Given the description of an element on the screen output the (x, y) to click on. 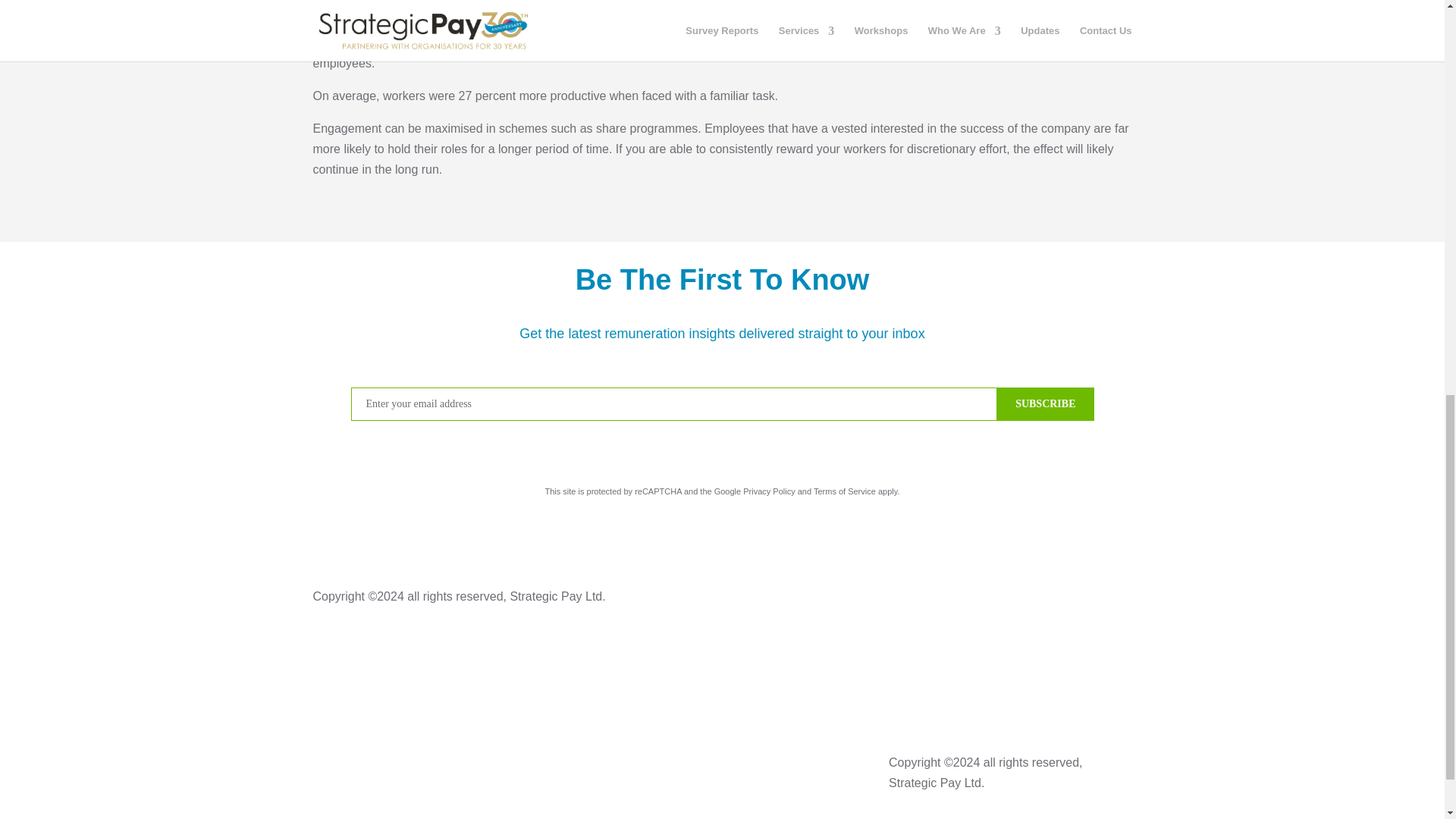
Follow on LinkedIn (1118, 598)
Follow on LinkedIn (543, 764)
SUBSCRIBE (1045, 403)
